Given the description of an element on the screen output the (x, y) to click on. 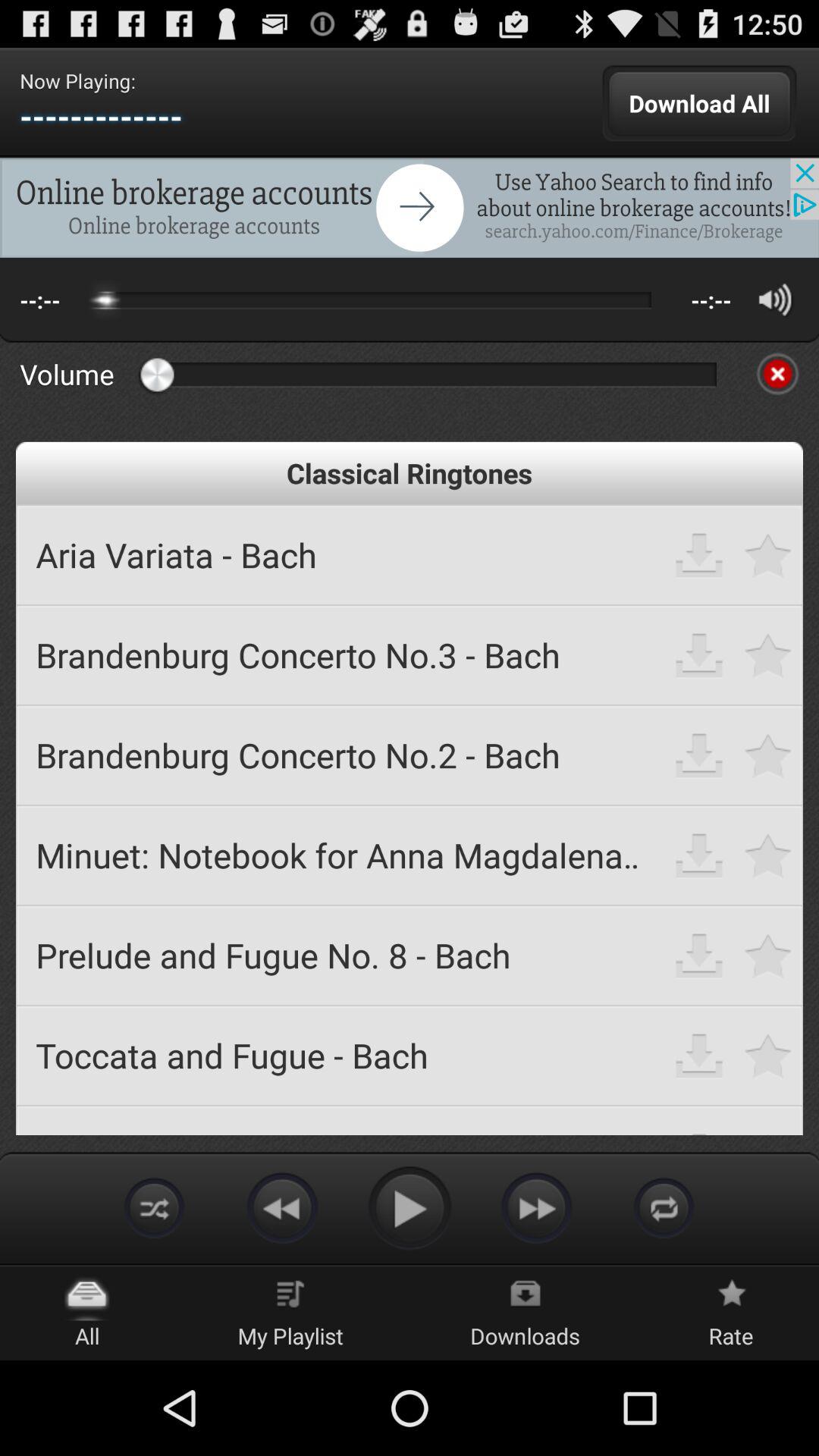
in mp3 ringtones free download app for android (536, 1207)
